Given the description of an element on the screen output the (x, y) to click on. 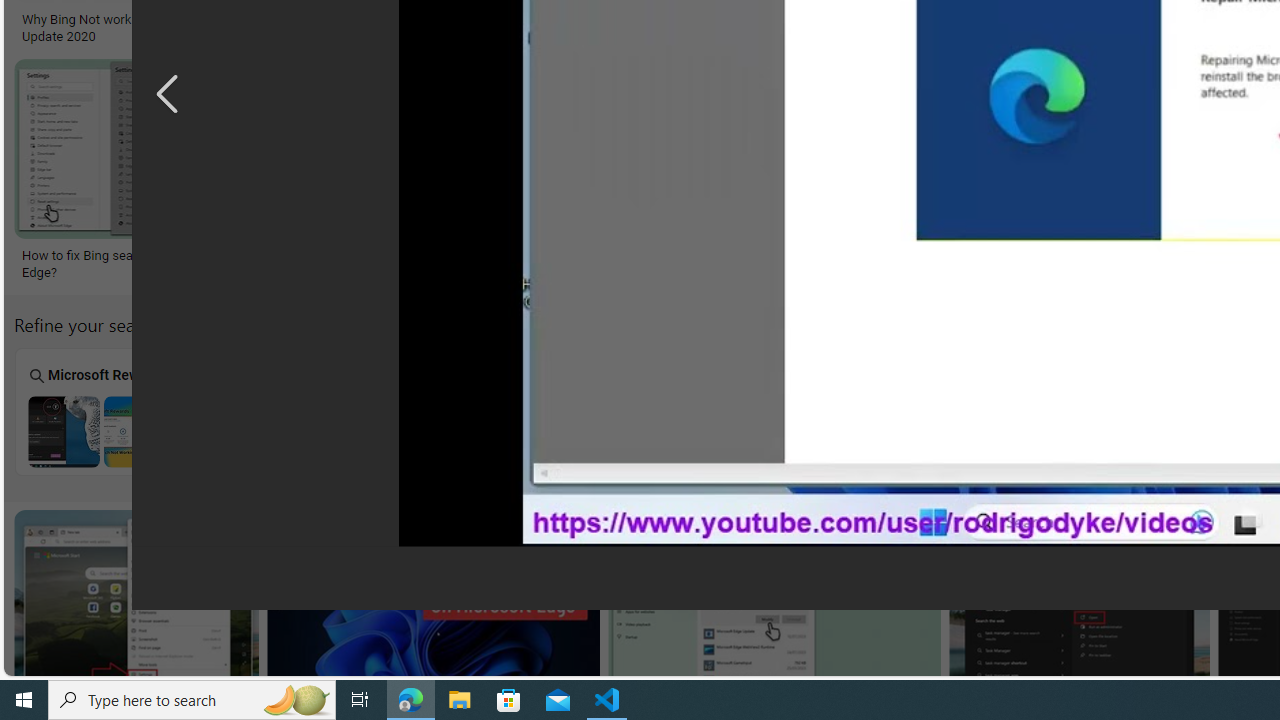
How to fix Bing search not working in Microsoft Edge?Save (173, 173)
How to fix Bing search not working in Microsoft Edge? (1123, 263)
Bing Search Box Not Working Box (461, 411)
Tablet (641, 411)
Image result for Bing Search Not Working (1078, 602)
Bing Tablet Search Not Working (641, 431)
Image result for Bing Search Not Working (1078, 602)
Bing Search Not Working Properly (1002, 431)
Properly (1002, 411)
How to fix Bing search not working in Microsoft Edge? (1123, 263)
